Given the description of an element on the screen output the (x, y) to click on. 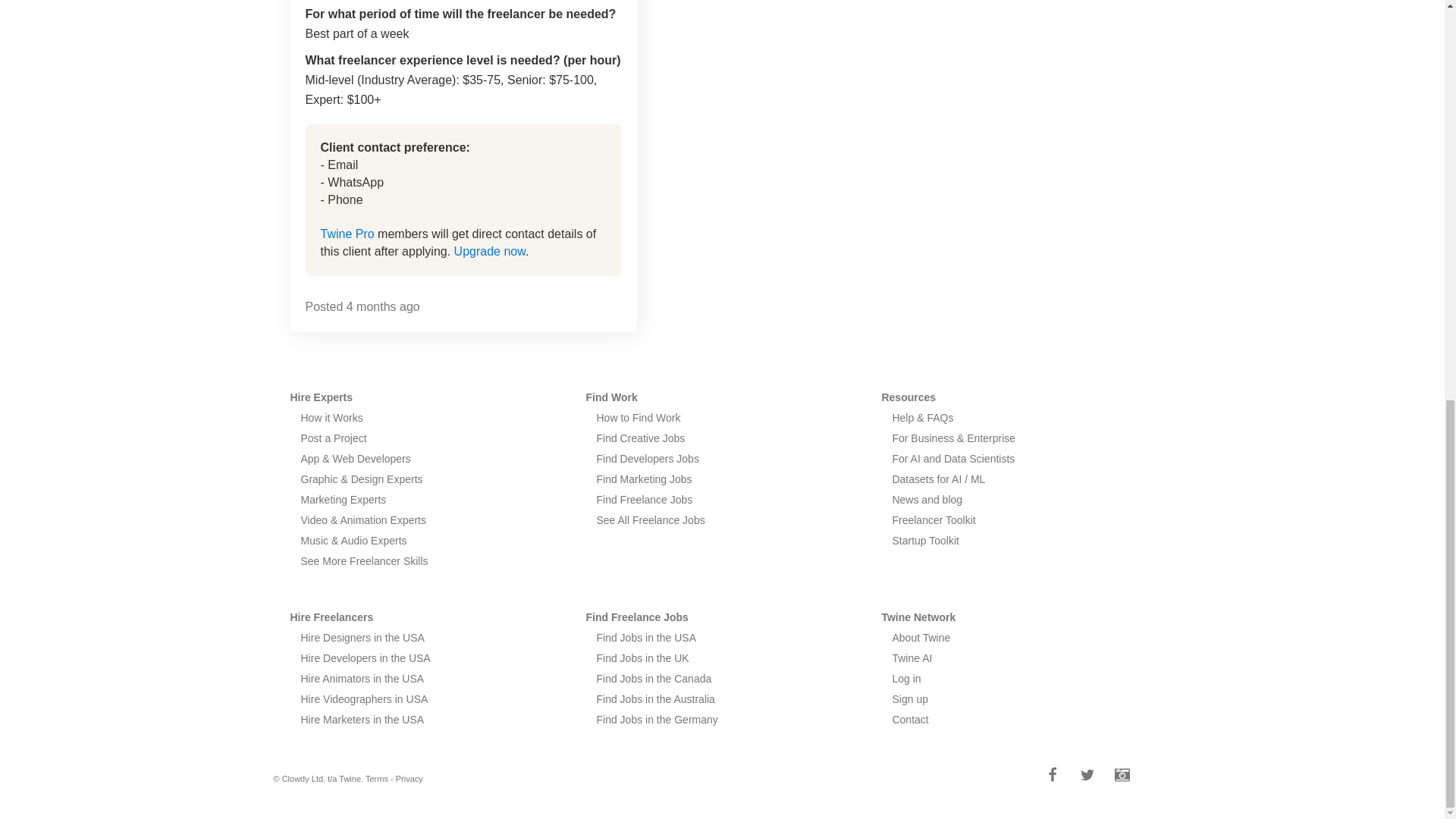
Privacy Policy (409, 777)
See More Freelancer Skills (363, 561)
Twine on Instagram (1122, 778)
Twine Pro (347, 233)
Find Work (611, 397)
Twine on Facebook (1052, 778)
Twine on Twitter (1087, 778)
Marketing Experts (342, 499)
How to Find Work (637, 417)
Upgrade now (489, 250)
How it Works (330, 417)
Hire Experts (320, 397)
Post a Project (332, 438)
Terms Of Service (376, 777)
